Given the description of an element on the screen output the (x, y) to click on. 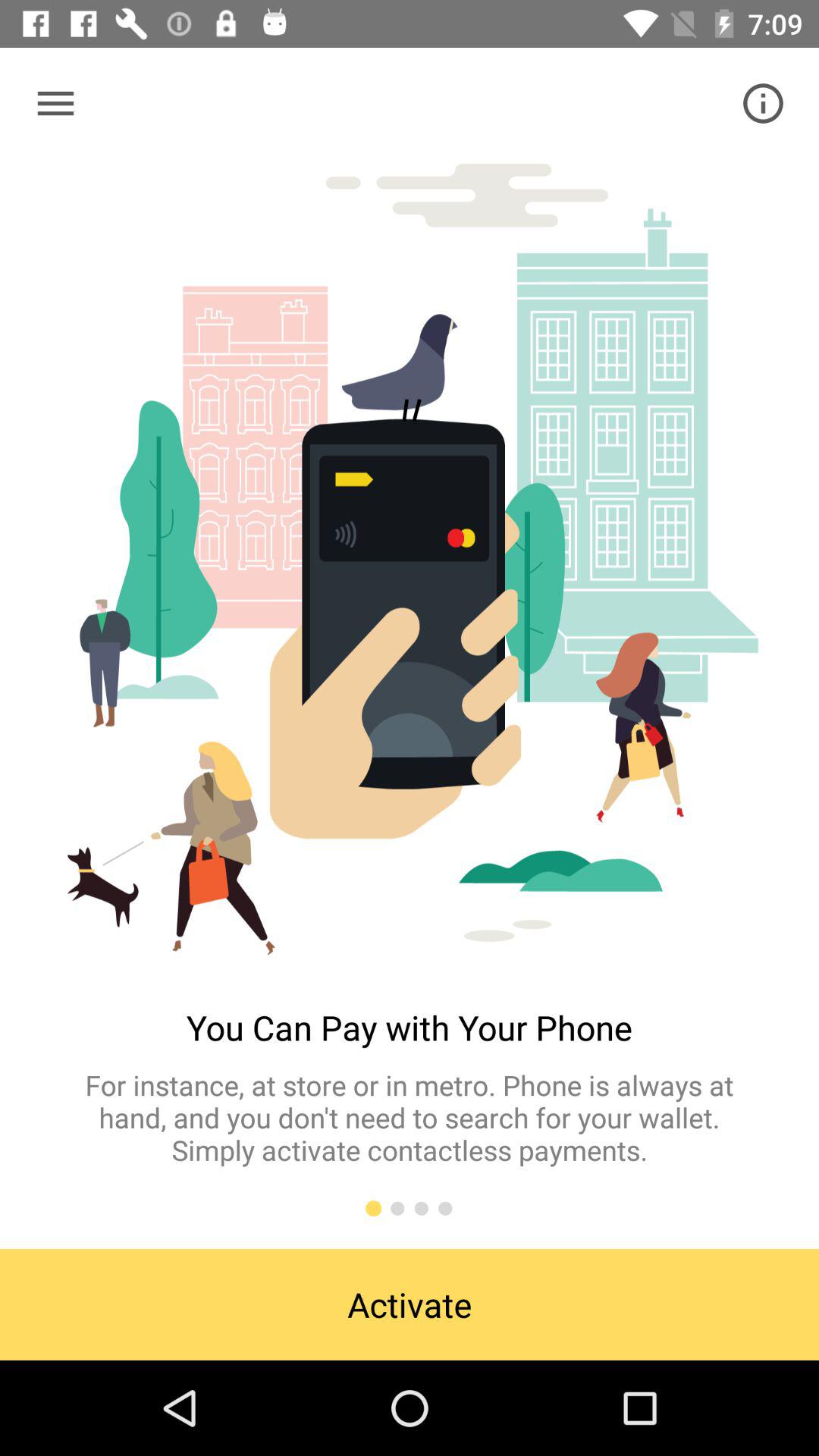
information button (763, 103)
